Given the description of an element on the screen output the (x, y) to click on. 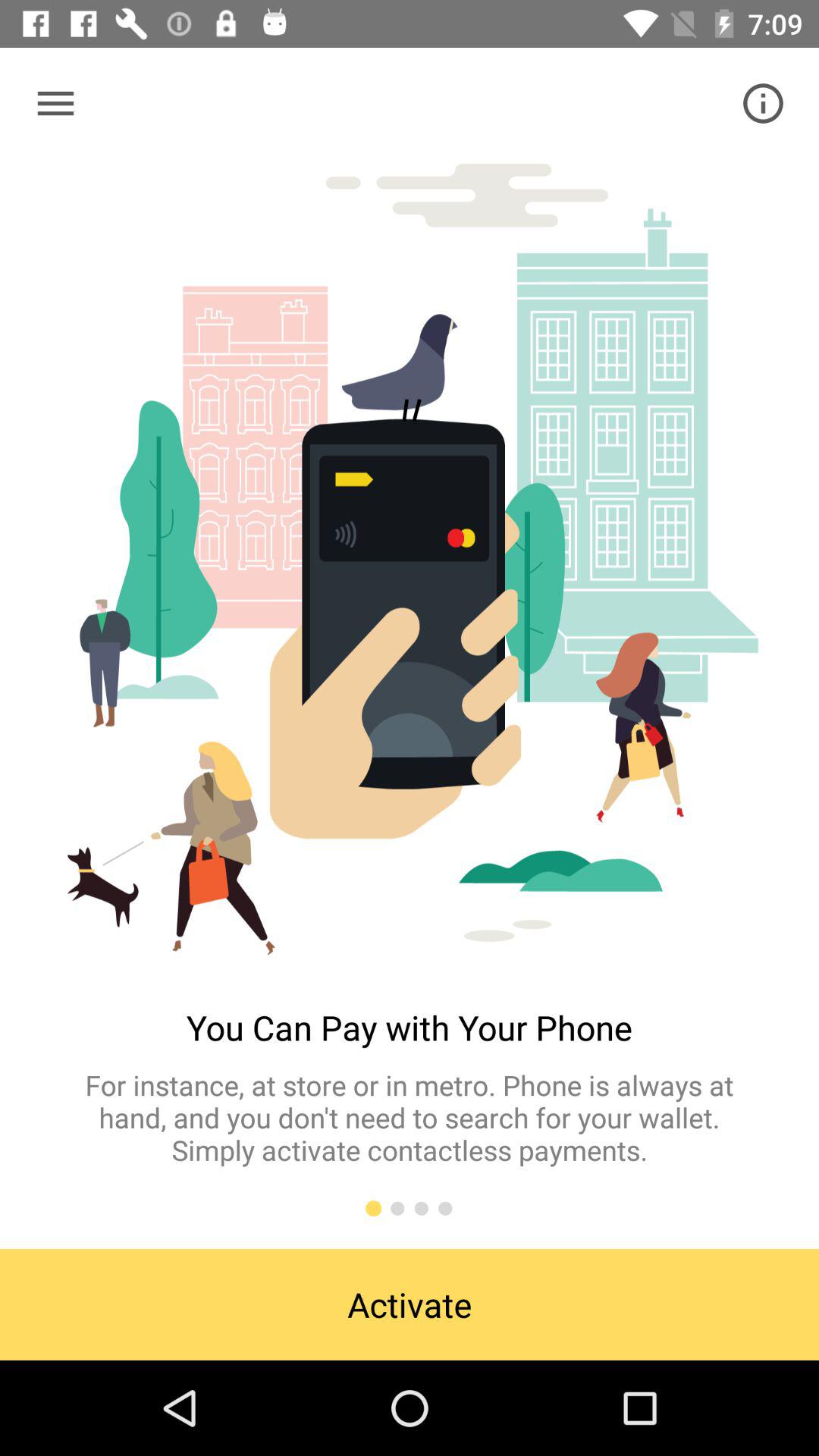
information button (763, 103)
